Given the description of an element on the screen output the (x, y) to click on. 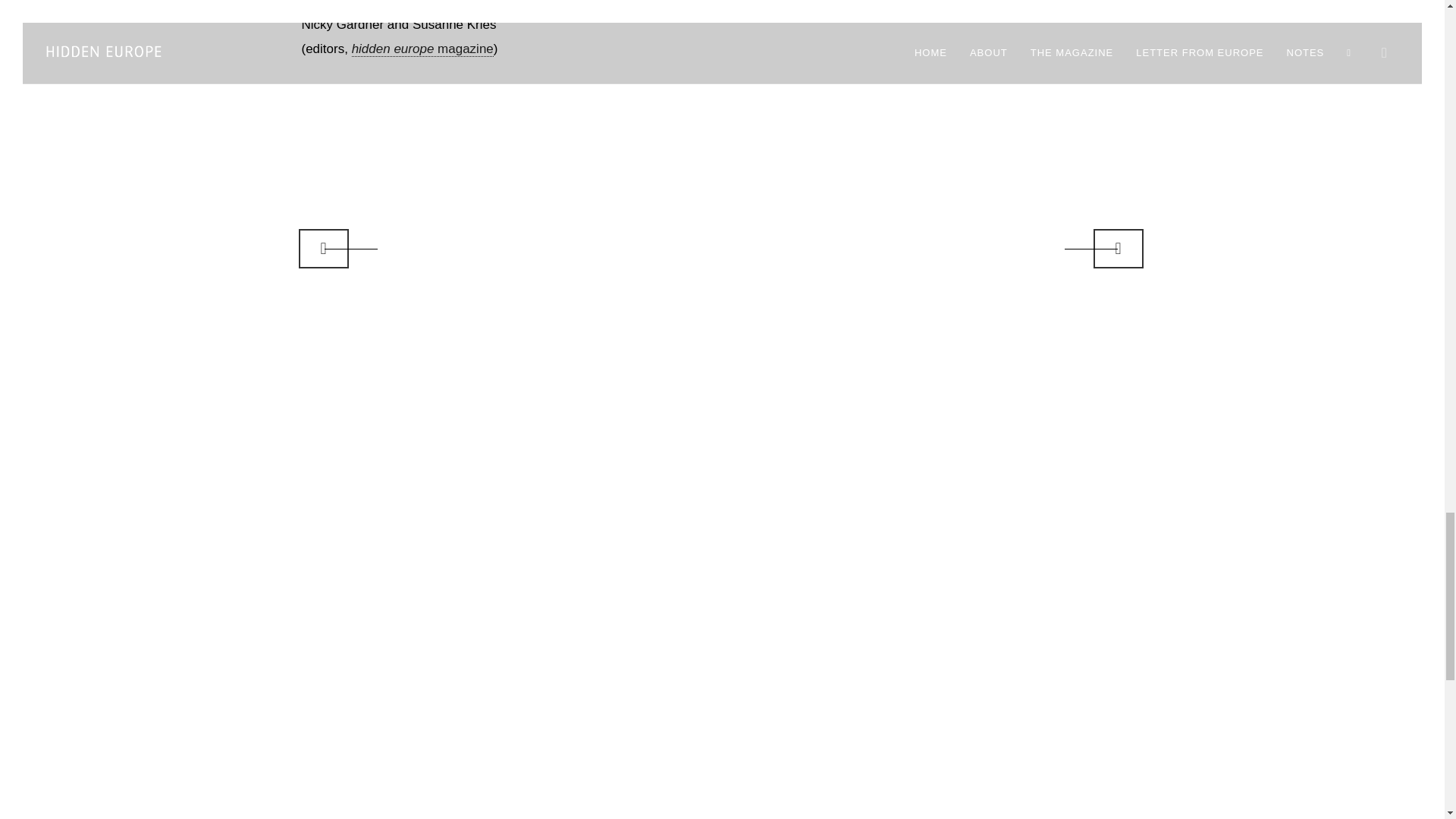
hidden europe magazine (422, 48)
